Given the description of an element on the screen output the (x, y) to click on. 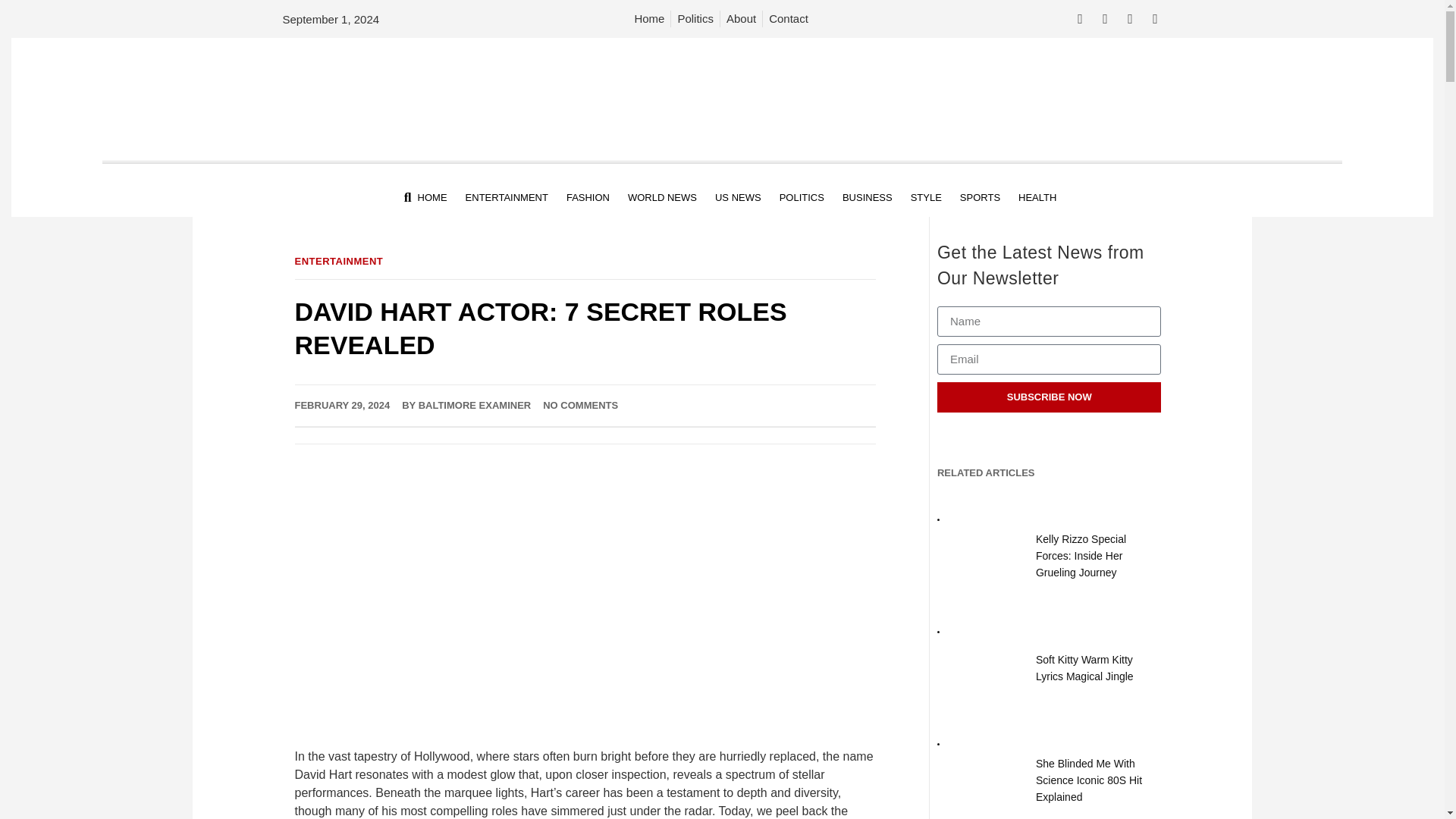
FEBRUARY 29, 2024 (342, 405)
HOME (432, 198)
Politics (695, 18)
Soft Kitty Warm Kitty Lyrics Magical Jingle (1084, 667)
POLITICS (802, 198)
She Blinded Me With Science Iconic 80S Hit Explained (1088, 780)
SPORTS (980, 198)
Contact (788, 18)
She Blinded Me With Science Iconic 80S Hit Explained (982, 776)
Kelly Rizzo Special Forces: Inside Her Grueling Journey (1080, 555)
